Given the description of an element on the screen output the (x, y) to click on. 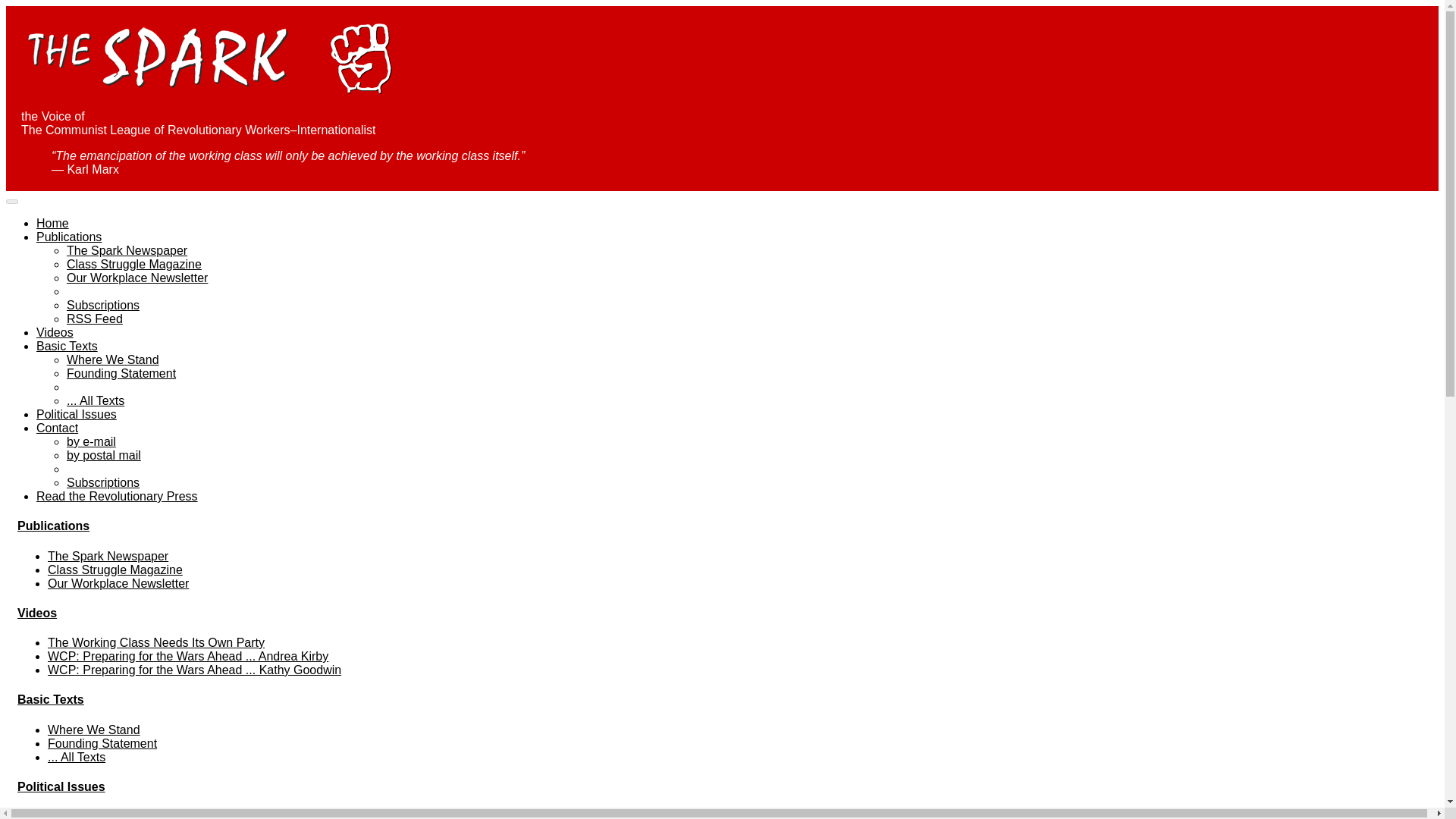
The Spark Newspaper (108, 555)
Contact (57, 427)
Political Issues (76, 413)
... All Texts (76, 757)
WCP: Preparing for the Wars Ahead ... Andrea Kirby (188, 656)
Political Issues (60, 786)
The Working Class Needs Its Own Party (156, 642)
Subscriptions (102, 481)
Subscription Information (102, 305)
RSS Feed (94, 318)
Where We Stand (93, 729)
Read the Revolutionary Press (117, 495)
Contact (39, 814)
The Spark Newspaper (126, 250)
WCP: Preparing for the Wars Ahead ... Kathy Goodwin (194, 669)
